Given the description of an element on the screen output the (x, y) to click on. 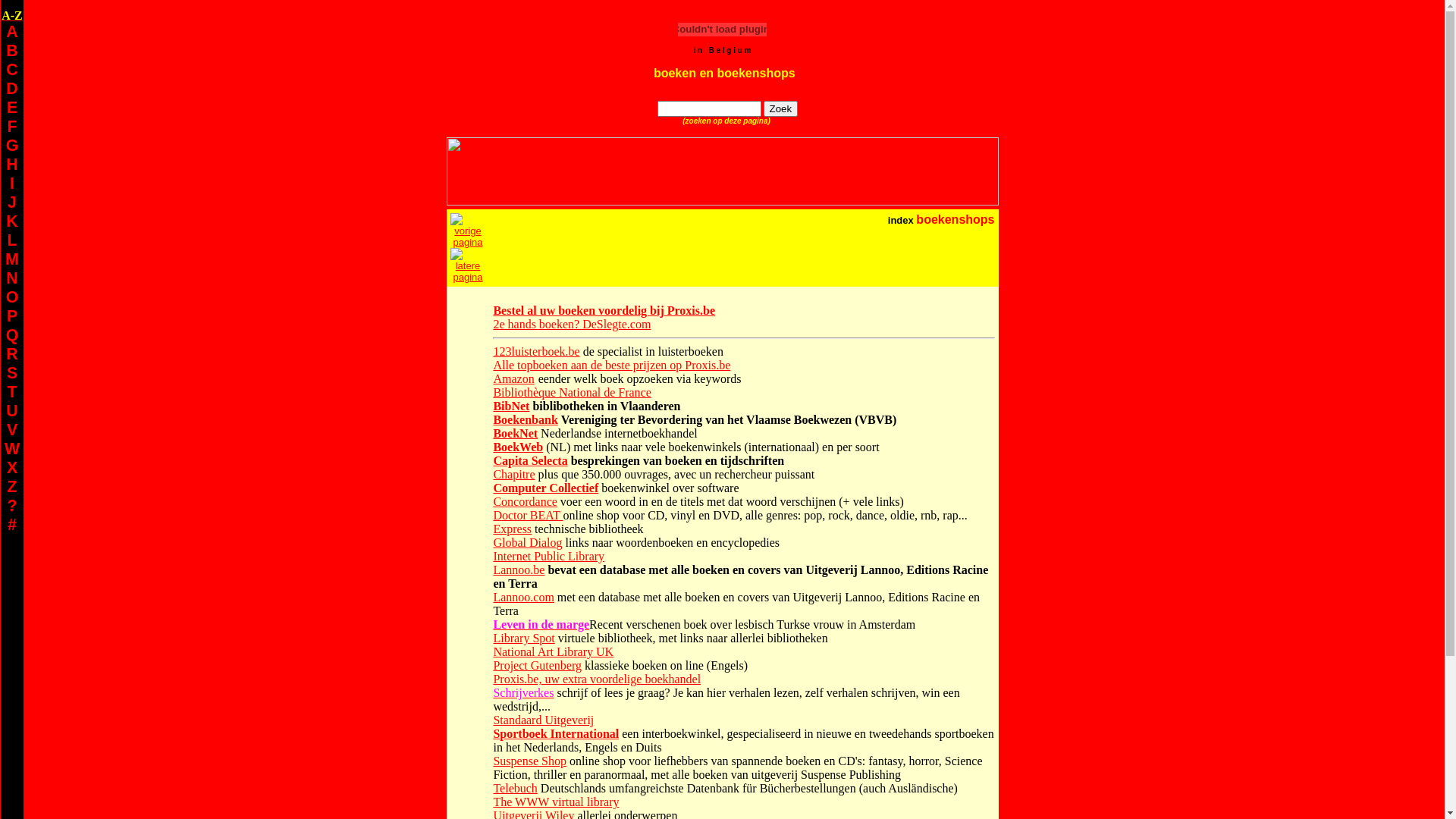
B Element type: text (11, 50)
A Element type: text (11, 31)
123luisterboek.be Element type: text (535, 351)
C Element type: text (11, 69)
G Element type: text (12, 145)
T Element type: text (11, 391)
Suspense Shop Element type: text (528, 760)
National Art Library UK Element type: text (552, 651)
E Element type: text (11, 107)
Bestel al uw boeken voordelig bij Proxis.be Element type: text (603, 310)
Proxis.be, uw extra voordelige boekhandel Element type: text (596, 678)
N Element type: text (11, 278)
Boekenbank Element type: text (524, 419)
The WWW virtual library Element type: text (555, 801)
P Element type: text (11, 316)
Global Dialog Element type: text (526, 542)
Capita Selecta Element type: text (529, 460)
boeken en boekenshops Element type: text (724, 72)
Sportboek International Element type: text (555, 733)
Q Element type: text (12, 335)
U Element type: text (11, 410)
I Element type: text (11, 183)
H Element type: text (11, 164)
X Element type: text (11, 467)
Schrijverkes Element type: text (522, 692)
BoekWeb Element type: text (517, 446)
O Element type: text (12, 297)
R Element type: text (11, 354)
? Element type: text (11, 505)
BibNet Element type: text (510, 405)
Lannoo.com Element type: text (522, 596)
W Element type: text (11, 448)
2e hands boeken? DeSlegte.com Element type: text (571, 323)
L Element type: text (11, 240)
Internet Public Library Element type: text (548, 555)
Project Gutenberg Element type: text (536, 664)
Telebuch Element type: text (514, 787)
Computer Collectief Element type: text (545, 487)
Chapitre Element type: text (513, 473)
Standaard Uitgeverij Element type: text (542, 719)
Concordance Element type: text (524, 501)
Doctor BEAT Element type: text (527, 514)
D Element type: text (11, 88)
F Element type: text (11, 126)
S Element type: text (11, 373)
Zoek Element type: text (780, 108)
K Element type: text (11, 221)
J Element type: text (11, 202)
Express Element type: text (511, 528)
# Element type: text (11, 524)
Lannoo.be Element type: text (518, 569)
Leven in de marge Element type: text (540, 624)
Amazon Element type: text (512, 378)
Z Element type: text (11, 486)
Library Spot Element type: text (523, 637)
Alle topboeken aan de beste prijzen op Proxis.be Element type: text (611, 364)
M Element type: text (11, 259)
A-Z Element type: text (11, 15)
BoekNet Element type: text (514, 432)
V Element type: text (11, 429)
